Given the description of an element on the screen output the (x, y) to click on. 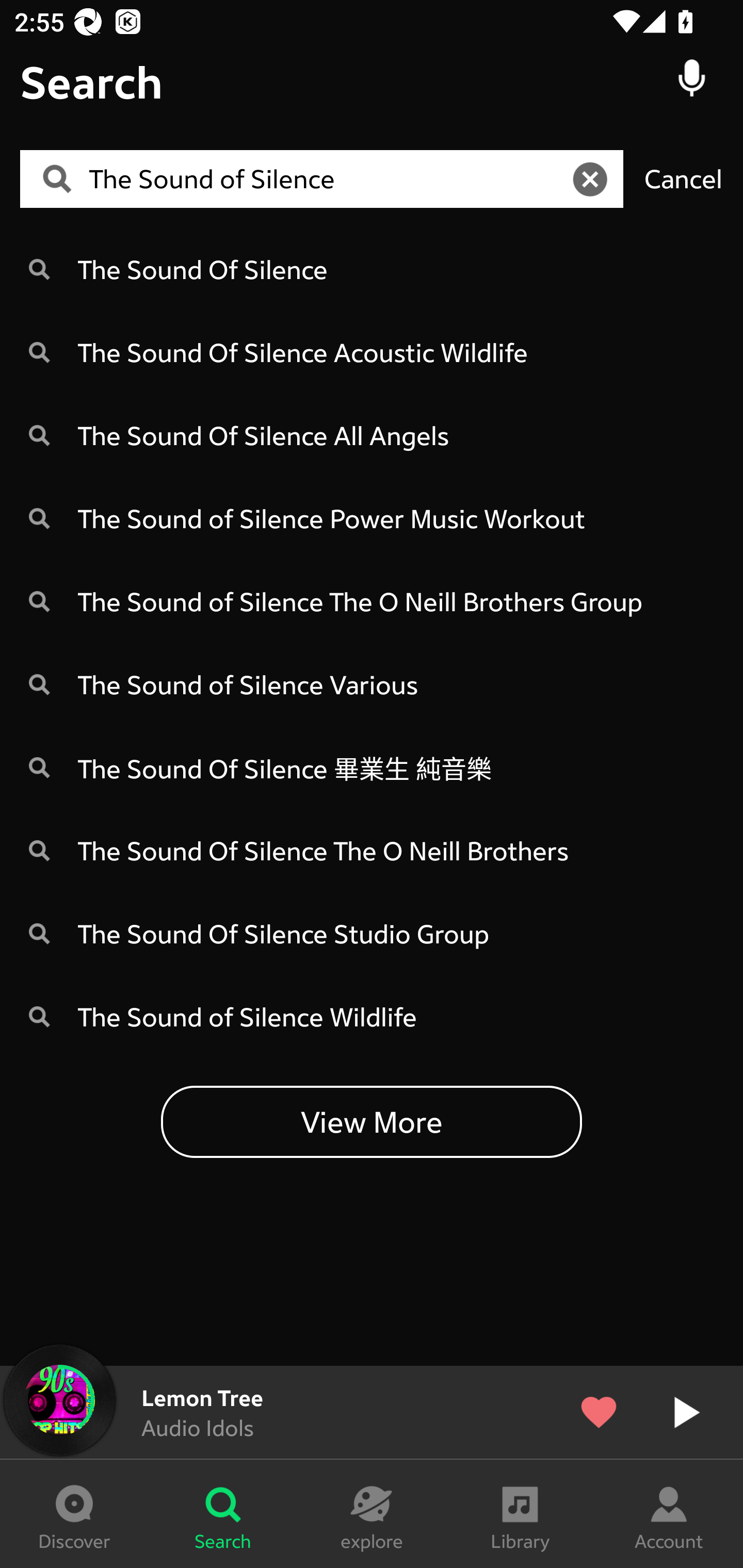
Cancel (683, 178)
The Sound of Silence (327, 179)
The Sound Of Silence (371, 268)
The Sound Of Silence Acoustic Wildlife (371, 351)
The Sound Of Silence All Angels (371, 434)
The Sound of Silence Power Music Workout (371, 517)
The Sound of Silence The O Neill Brothers Group (371, 600)
The Sound of Silence Various (371, 683)
The Sound Of Silence 畢業生 純音樂 (371, 767)
The Sound Of Silence The O Neill Brothers (371, 850)
The Sound Of Silence Studio Group (371, 933)
The Sound of Silence Wildlife (371, 1016)
View More (371, 1121)
Lemon Tree Audio Idols (371, 1412)
Discover (74, 1513)
explore (371, 1513)
Library (519, 1513)
Account (668, 1513)
